Given the description of an element on the screen output the (x, y) to click on. 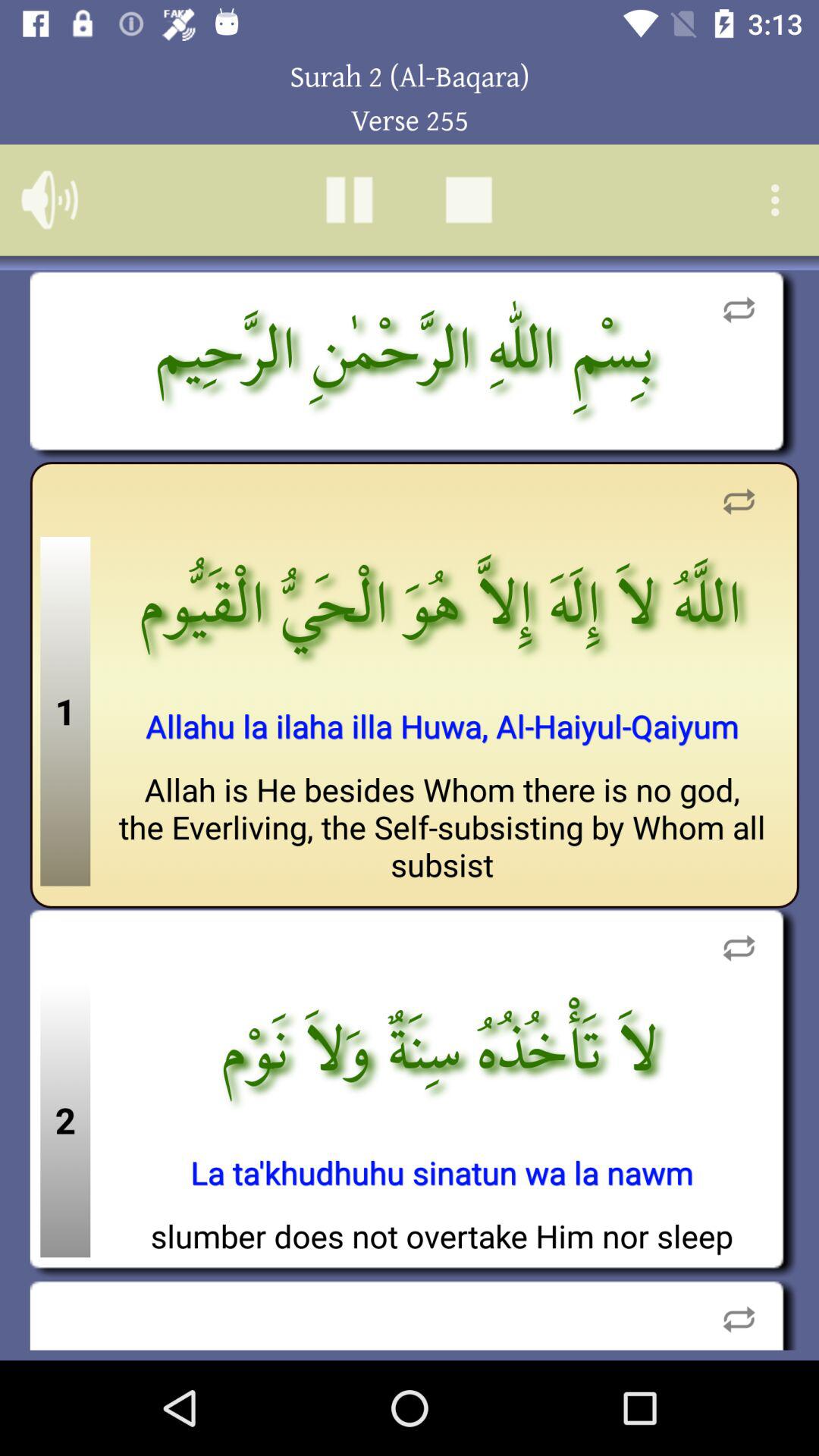
open icon at the top left corner (49, 199)
